Given the description of an element on the screen output the (x, y) to click on. 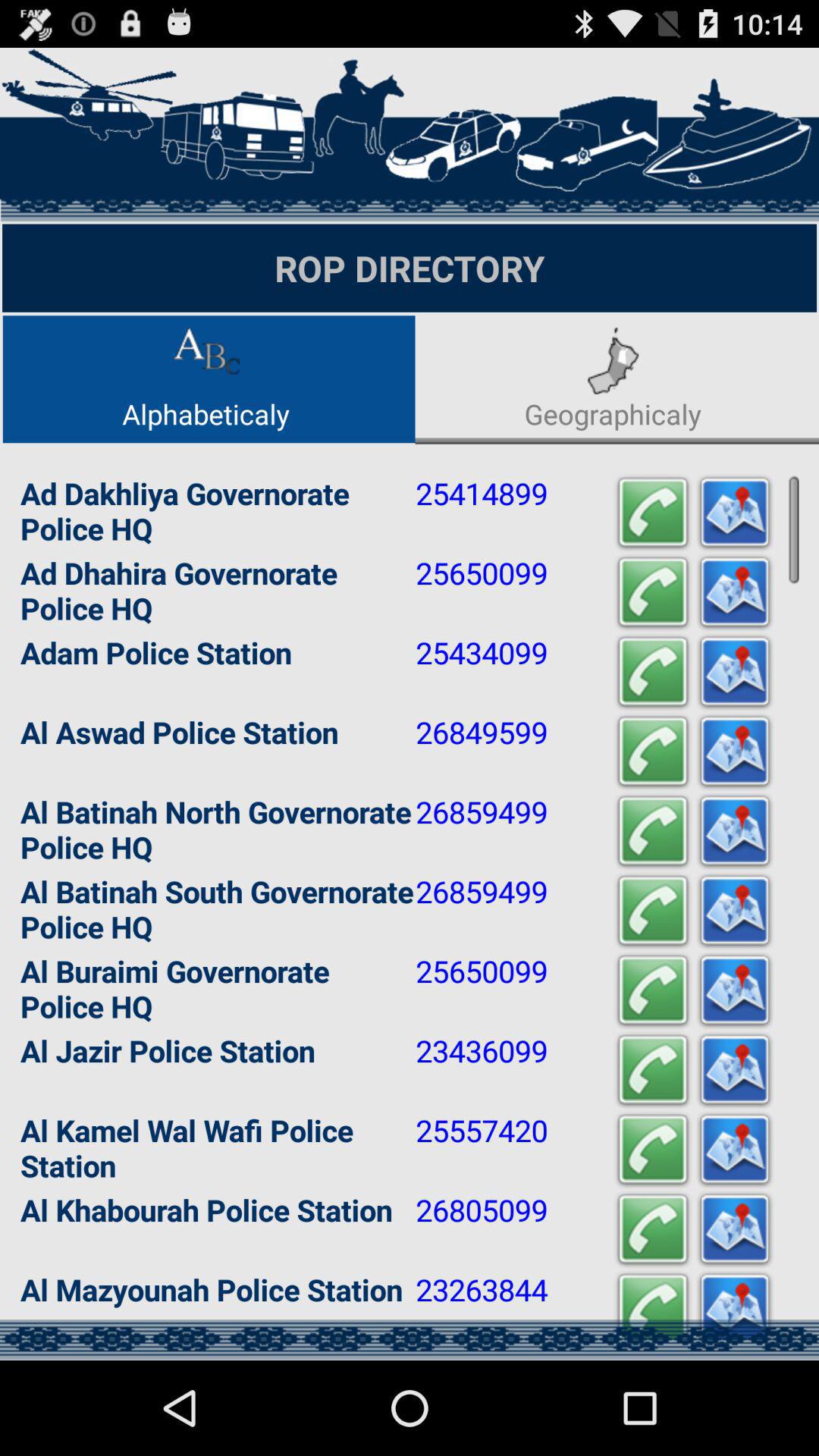
open map (734, 1229)
